Given the description of an element on the screen output the (x, y) to click on. 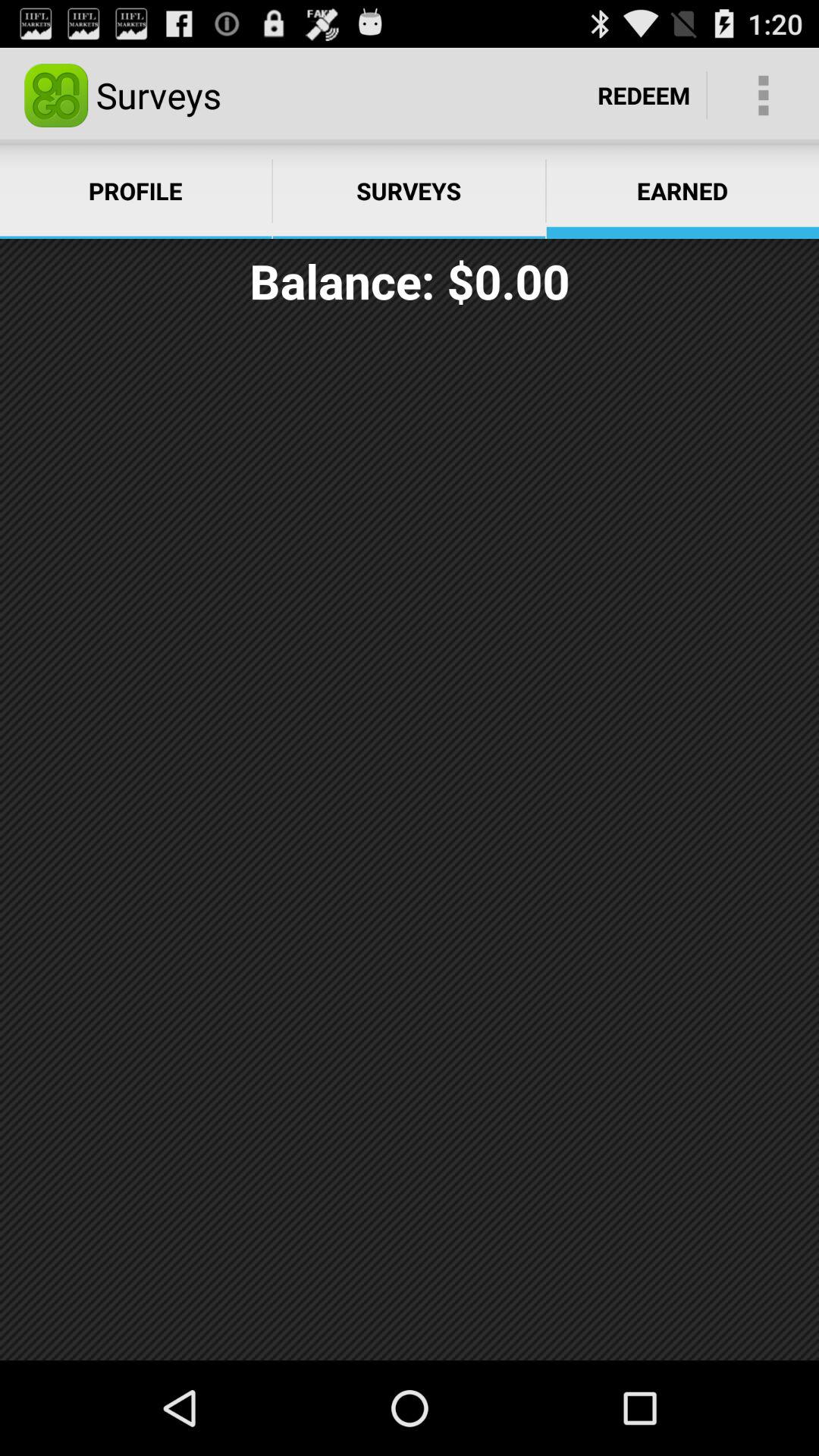
open the icon above the earned app (763, 95)
